Given the description of an element on the screen output the (x, y) to click on. 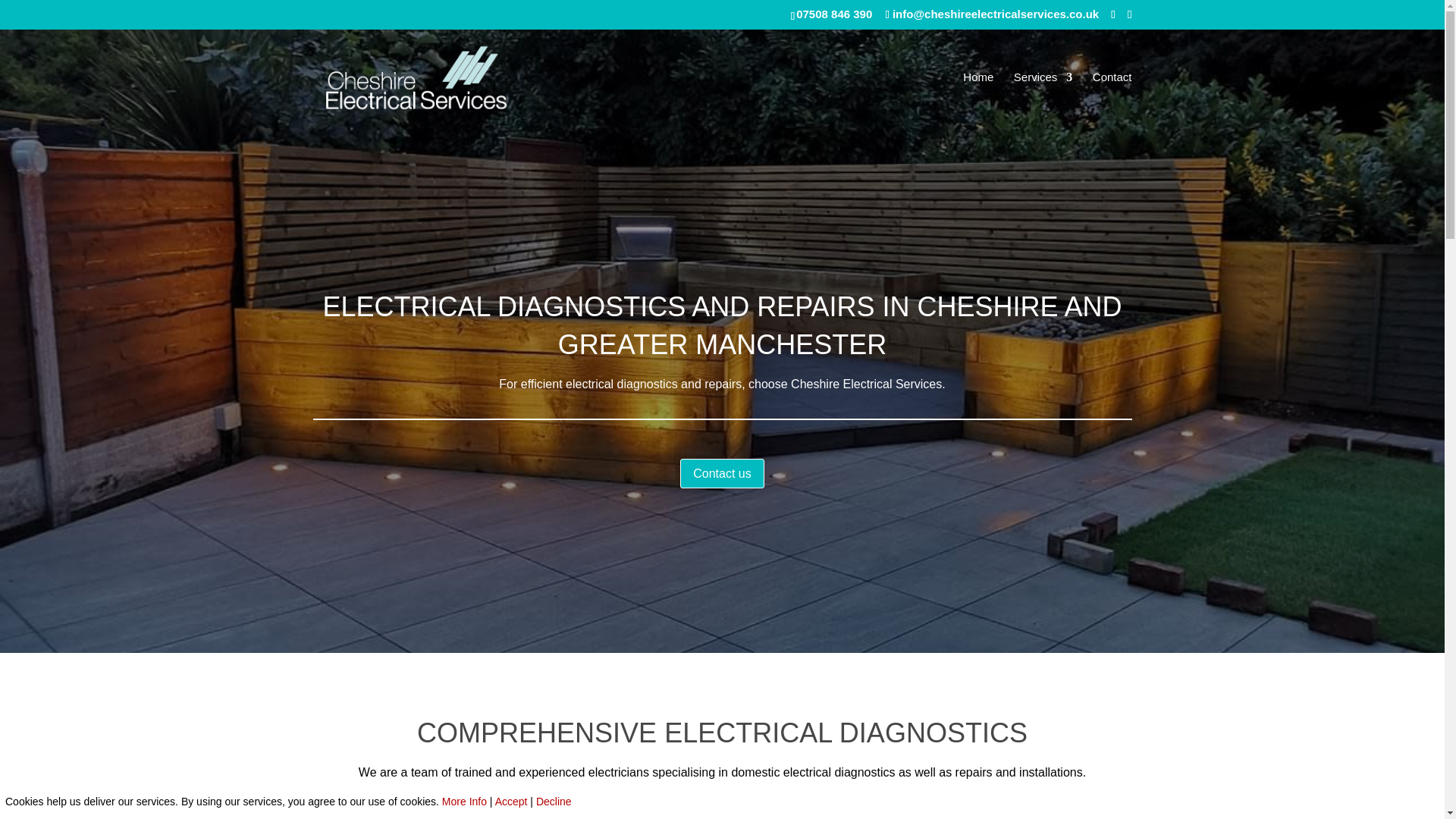
Services (1043, 97)
Contact us (720, 473)
07508 846 390 (834, 13)
